Given the description of an element on the screen output the (x, y) to click on. 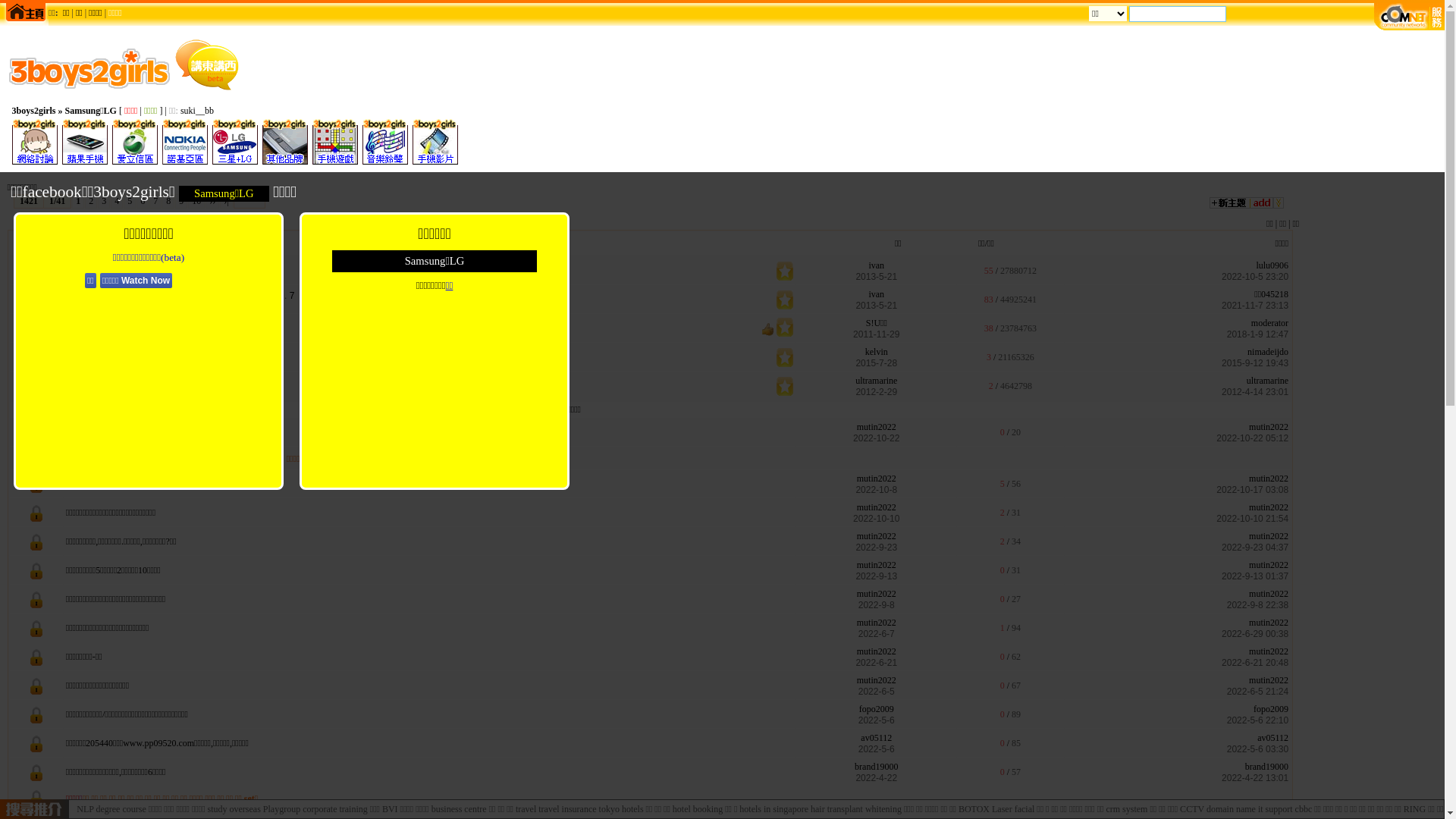
3 Element type: text (103, 201)
2 Element type: text (152, 266)
mutin2022 Element type: text (876, 679)
2022-10-22 05:12 Element type: text (1252, 438)
2015-9-12 19:43 Element type: text (1254, 362)
mutin2022 Element type: text (1268, 426)
  Element type: text (1215, 12)
7 Element type: text (291, 295)
2022-6-29 00:38 Element type: text (1254, 633)
mutin2022 Element type: text (1268, 478)
4 Element type: text (116, 201)
mutin2022 Element type: text (1268, 593)
mutin2022 Element type: text (876, 478)
10 Element type: text (196, 201)
5 Element type: text (129, 201)
2022-4-22 13:01 Element type: text (1254, 777)
kelvin Element type: text (876, 351)
3 Element type: text (160, 266)
1 Element type: text (217, 322)
mutin2022 Element type: text (1268, 535)
 1421  Element type: text (28, 201)
mutin2022 Element type: text (1268, 622)
ultramarine Element type: text (876, 380)
5 Element type: text (175, 266)
mutin2022 Element type: text (876, 593)
9 Element type: text (181, 201)
2022-10-5 23:20 Element type: text (1254, 276)
av05112 Element type: text (875, 737)
mutin2022 Element type: text (1268, 507)
1 Element type: text (78, 201)
mutin2022 Element type: text (1268, 651)
lulu0906 Element type: text (1271, 265)
2022-6-5 21:24 Element type: text (1257, 691)
3boys2girls Element type: text (34, 110)
ivan Element type: text (876, 265)
3 Element type: text (232, 322)
brand19000 Element type: text (875, 766)
4 Element type: text (167, 266)
2022-9-23 04:37 Element type: text (1254, 547)
5 Element type: text (269, 295)
2022-9-8 22:38 Element type: text (1257, 604)
2022-5-6 22:10 Element type: text (1257, 720)
2022-9-13 01:37 Element type: text (1254, 576)
8 Element type: text (168, 201)
6 Element type: text (142, 201)
2022-10-17 03:08 Element type: text (1252, 489)
brand19000 Element type: text (1266, 766)
6 Element type: text (276, 295)
2012-4-14 23:01 Element type: text (1254, 391)
Playgroup Element type: text (139, 458)
2022-5-6 03:30 Element type: text (1257, 748)
4 Element type: text (240, 322)
ultramarine Element type: text (1267, 380)
2018-1-9 12:47 Element type: text (1257, 334)
3 Element type: text (254, 295)
fopo2009 Element type: text (1270, 708)
4 Element type: text (261, 295)
fopo2009 Element type: text (876, 708)
moderator Element type: text (1269, 322)
7 Element type: text (155, 201)
2022-6-21 20:48 Element type: text (1254, 662)
2022-10-10 21:54 Element type: text (1252, 518)
mutin2022 Element type: text (876, 507)
ivan Element type: text (876, 293)
mutin2022 Element type: text (876, 651)
2021-11-7 23:13 Element type: text (1254, 305)
 1/41  Element type: text (57, 201)
mutin2022 Element type: text (1268, 564)
mutin2022 Element type: text (876, 622)
av05112 Element type: text (1272, 737)
mutin2022 Element type: text (876, 564)
1 Element type: text (144, 266)
1 Element type: text (238, 295)
mutin2022 Element type: text (876, 426)
mutin2022 Element type: text (1268, 679)
2 Element type: text (225, 322)
nimadeijdo Element type: text (1267, 351)
2 Element type: text (246, 295)
suki__bb Element type: text (196, 110)
2 Element type: text (90, 201)
mutin2022 Element type: text (876, 535)
